Given the description of an element on the screen output the (x, y) to click on. 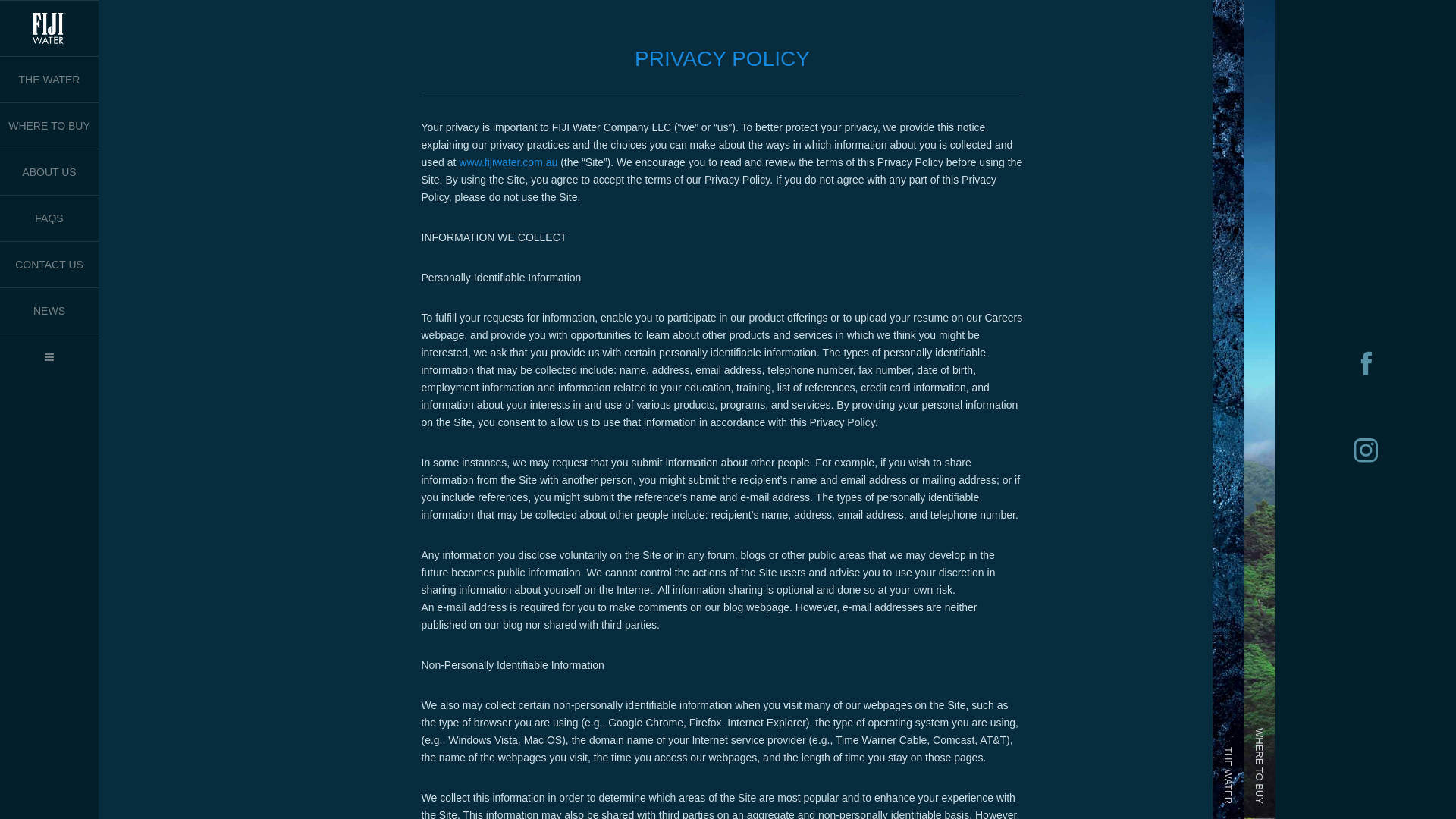
NEWS Element type: text (48, 310)
ABOUT US Element type: text (48, 171)
CONTACT US Element type: text (49, 264)
FAQS Element type: text (48, 218)
WHERE TO BUY Element type: text (48, 125)
www.fijiwater.com.au Element type: text (507, 162)
THE WATER Element type: text (49, 79)
